Given the description of an element on the screen output the (x, y) to click on. 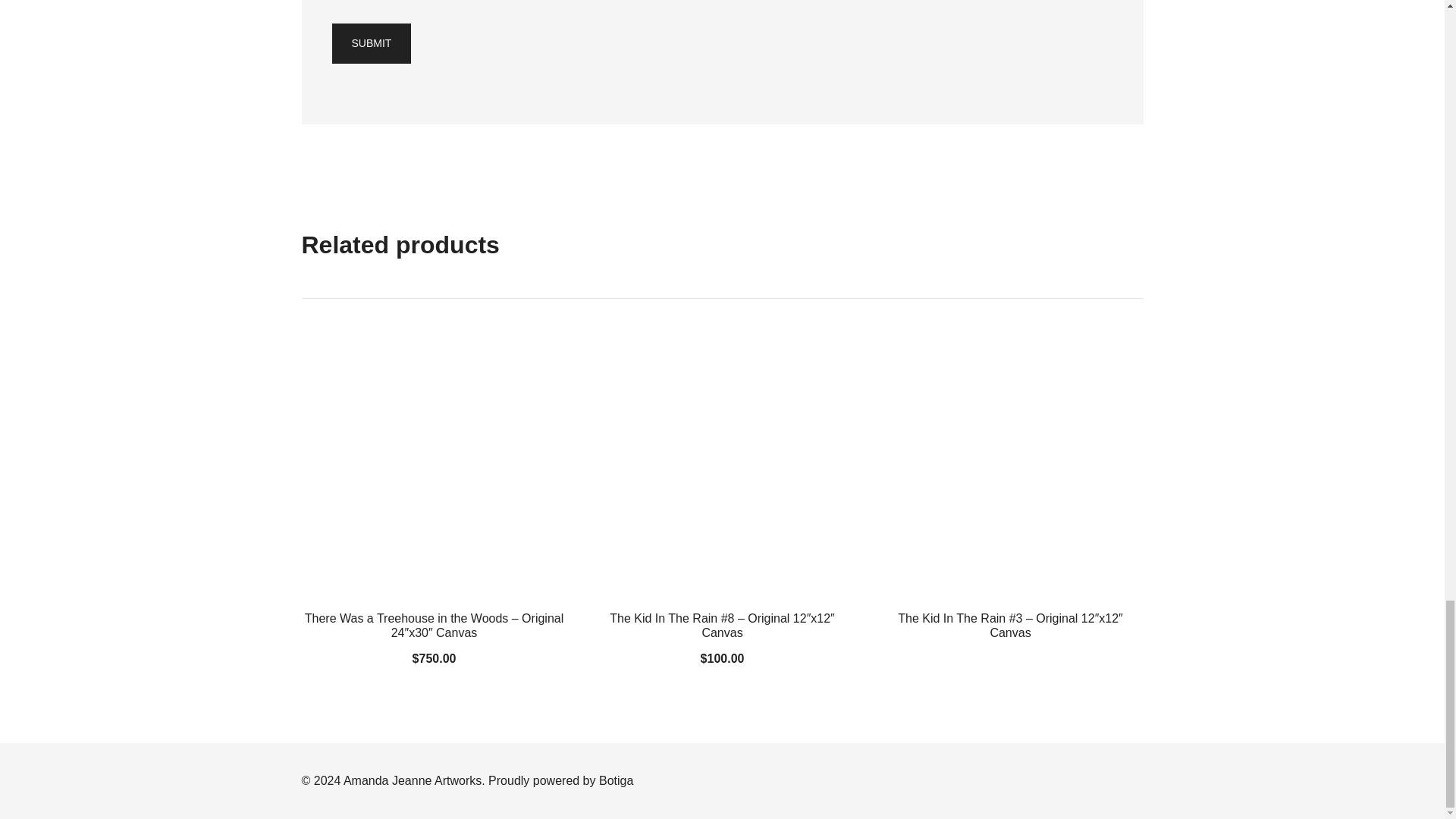
Submit (371, 43)
